Given the description of an element on the screen output the (x, y) to click on. 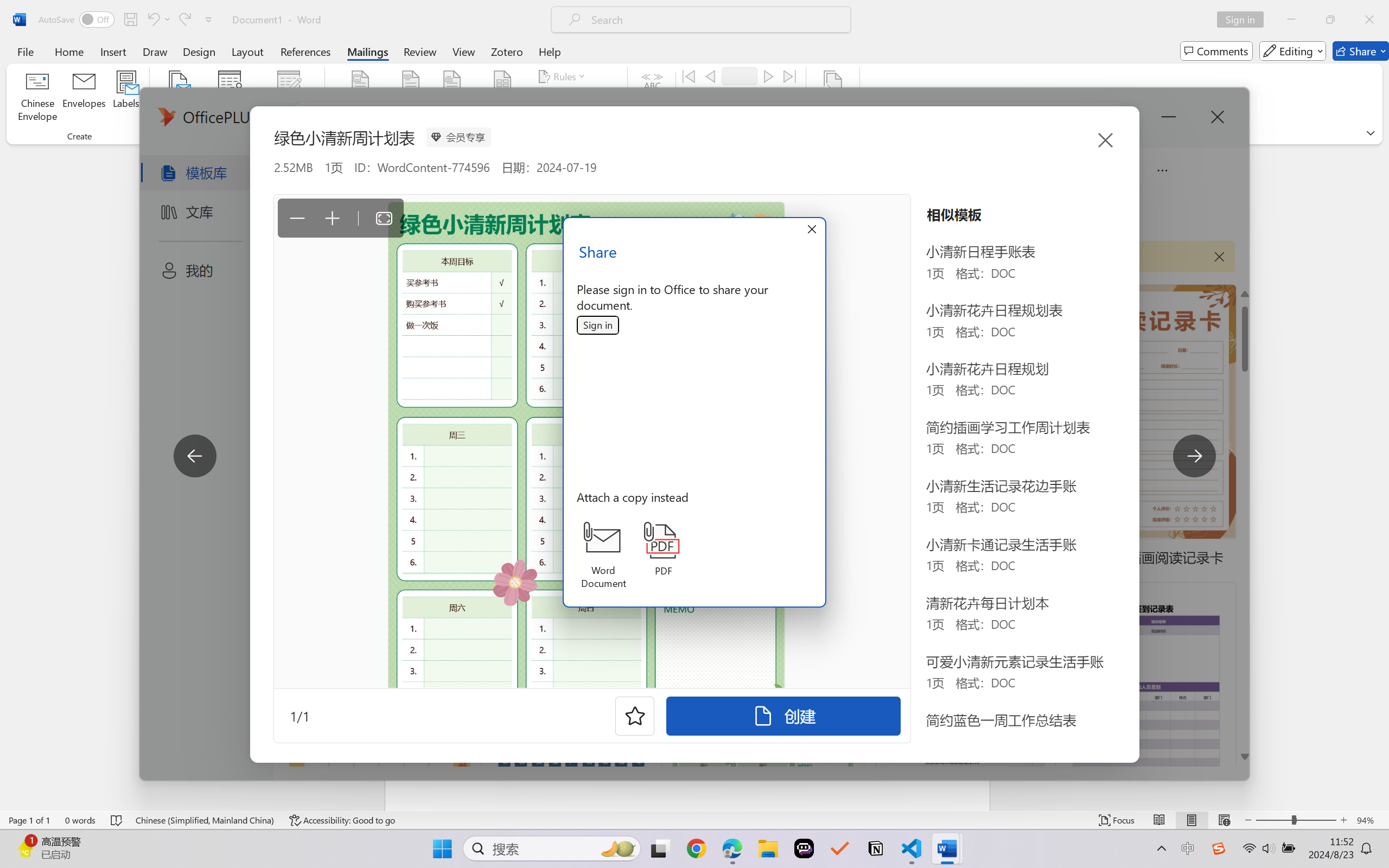
Select Recipients (229, 97)
Last (790, 75)
Match Fields... (573, 97)
Sign in (597, 325)
